Given the description of an element on the screen output the (x, y) to click on. 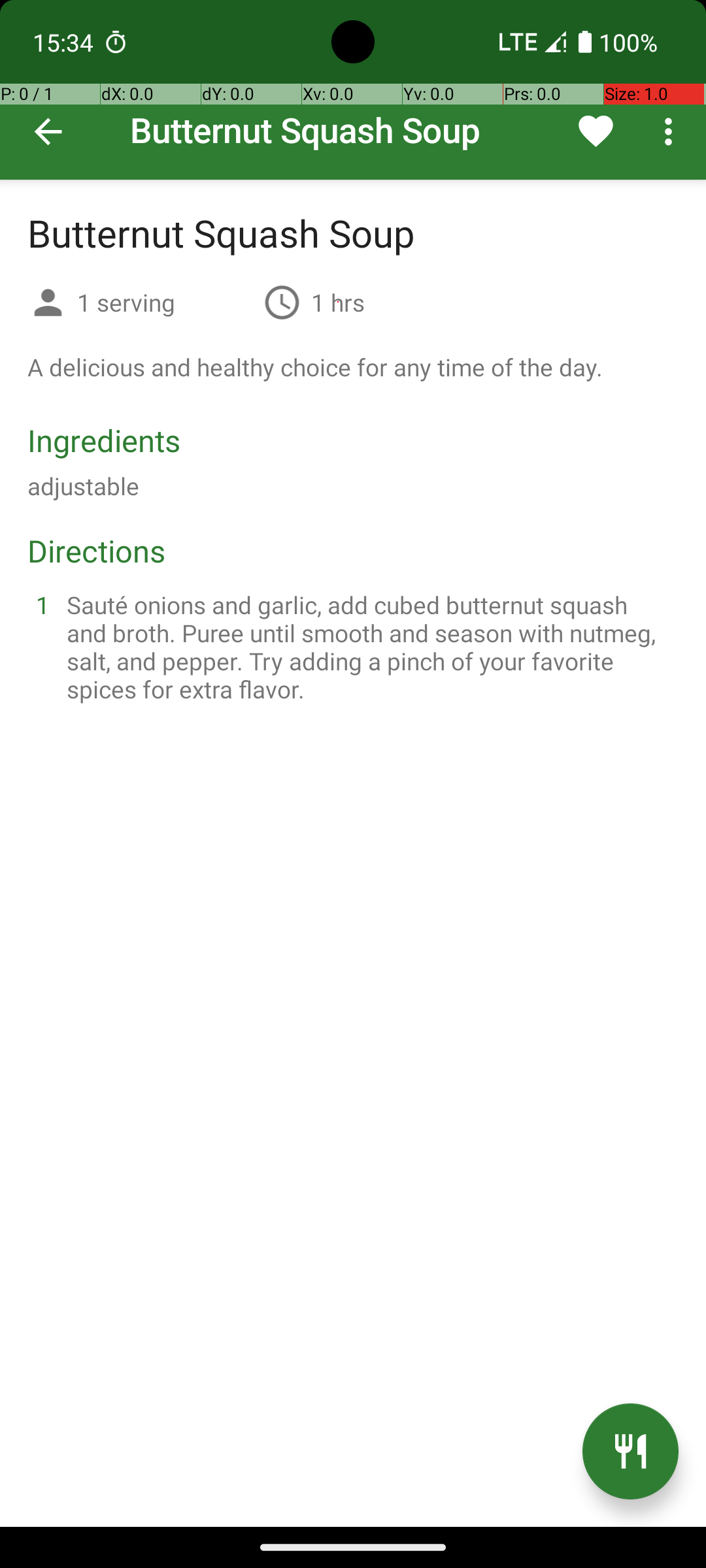
Sauté onions and garlic, add cubed butternut squash and broth. Puree until smooth and season with nutmeg, salt, and pepper. Try adding a pinch of your favorite spices for extra flavor. Element type: android.widget.TextView (368, 646)
